Given the description of an element on the screen output the (x, y) to click on. 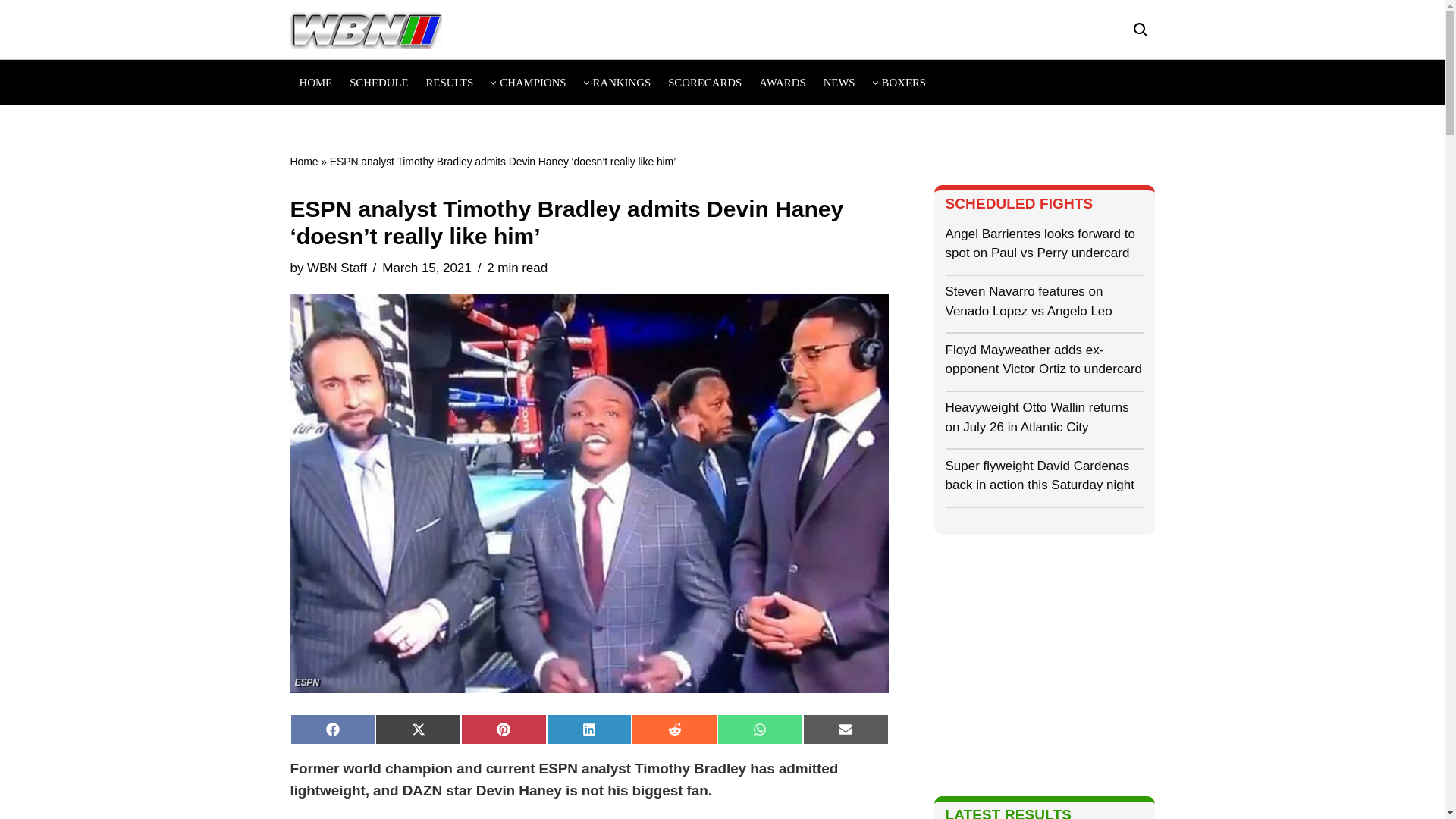
RANKINGS (621, 81)
NEWS (840, 81)
SCHEDULE (378, 81)
AWARDS (781, 81)
Skip to content (11, 31)
Posts by WBN Staff (336, 268)
HOME (314, 81)
RESULTS (449, 81)
CHAMPIONS (532, 81)
BOXERS (904, 81)
SCORECARDS (704, 81)
